Given the description of an element on the screen output the (x, y) to click on. 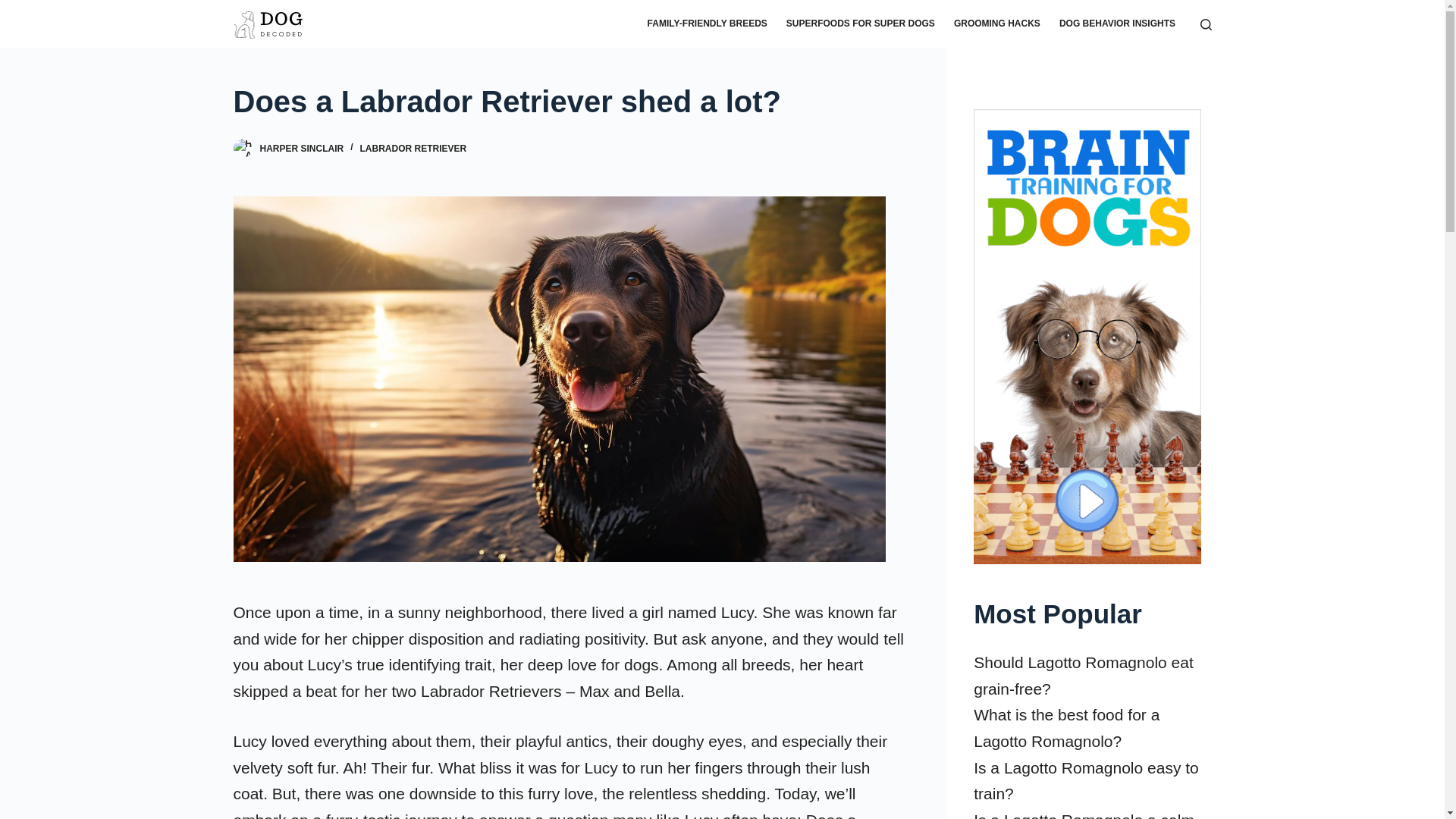
GROOMING HACKS (996, 24)
Posts by Harper Sinclair (301, 148)
HARPER SINCLAIR (301, 148)
Skip to content (15, 7)
Is a Lagotto Romagnolo a calm dog? (1083, 815)
Is a Lagotto Romagnolo easy to train? (1086, 781)
Does a Labrador Retriever shed a lot? (570, 101)
FAMILY-FRIENDLY BREEDS (706, 24)
What is the best food for a Lagotto Romagnolo? (1066, 727)
Should Lagotto Romagnolo eat grain-free? (1083, 675)
